Given the description of an element on the screen output the (x, y) to click on. 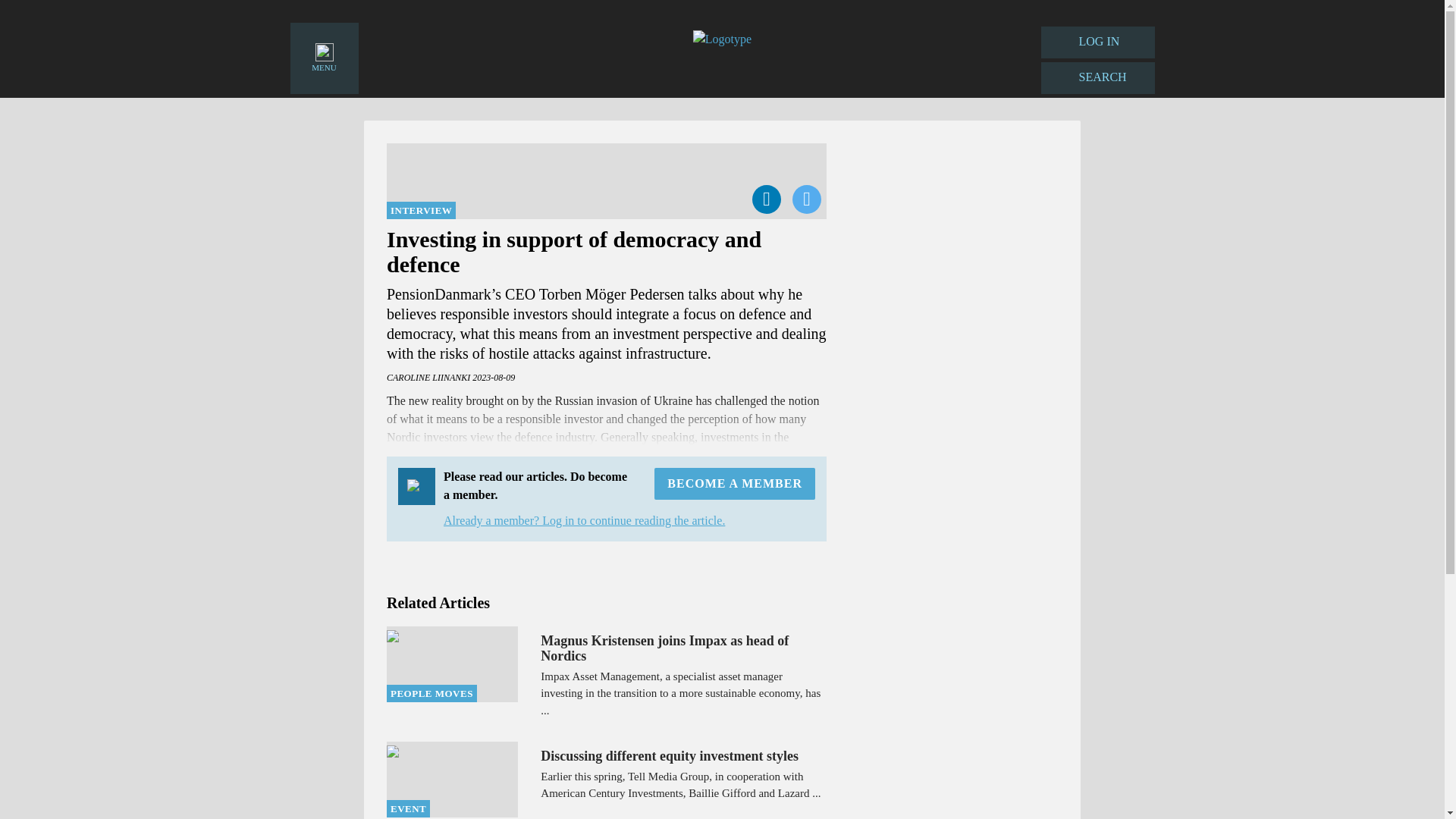
Already a member? Log in to continue reading the article. (584, 520)
LOG IN (1097, 42)
SEARCH (1097, 78)
BECOME A MEMBER (734, 483)
